Given the description of an element on the screen output the (x, y) to click on. 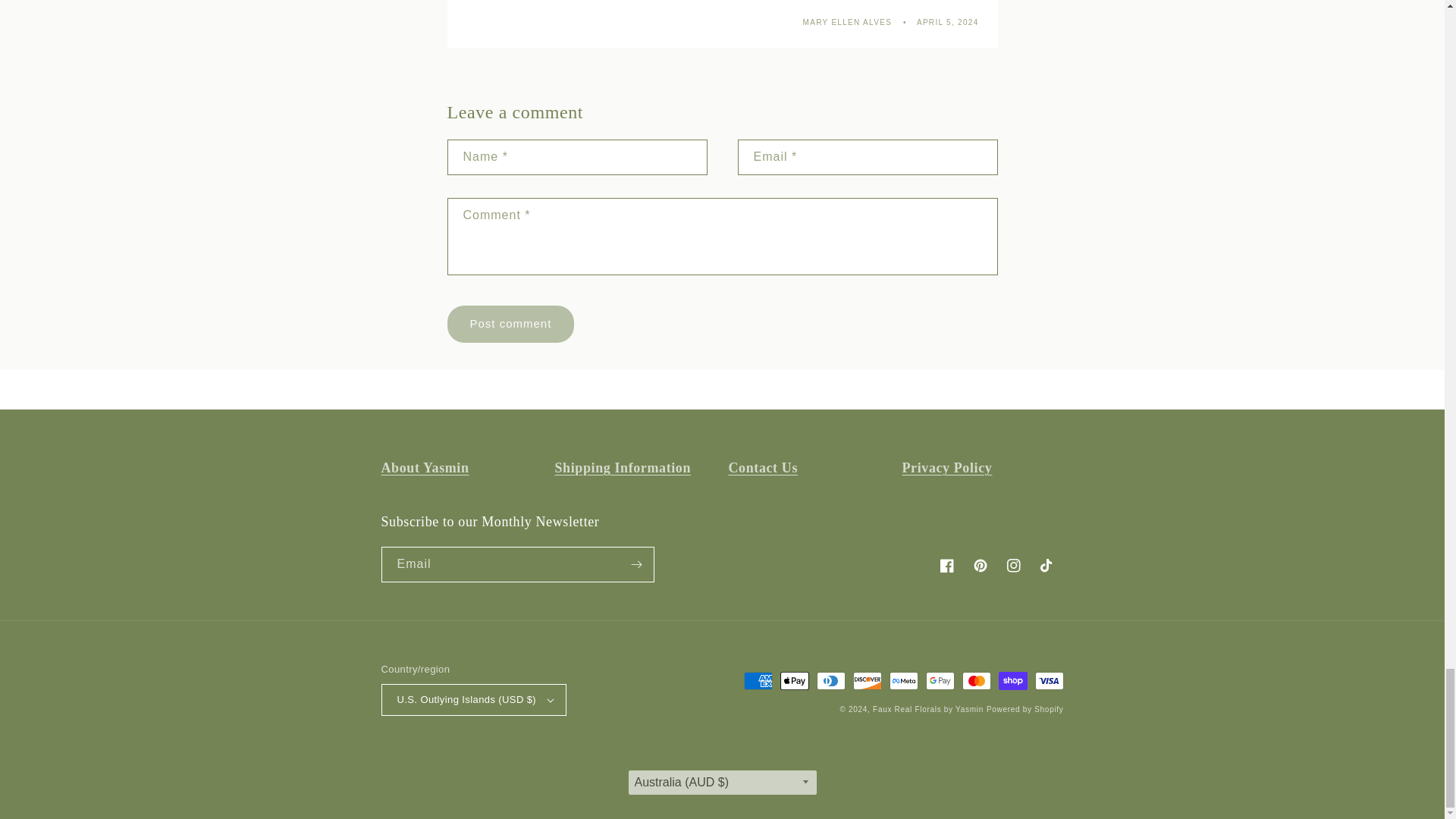
Post comment (510, 324)
